Given the description of an element on the screen output the (x, y) to click on. 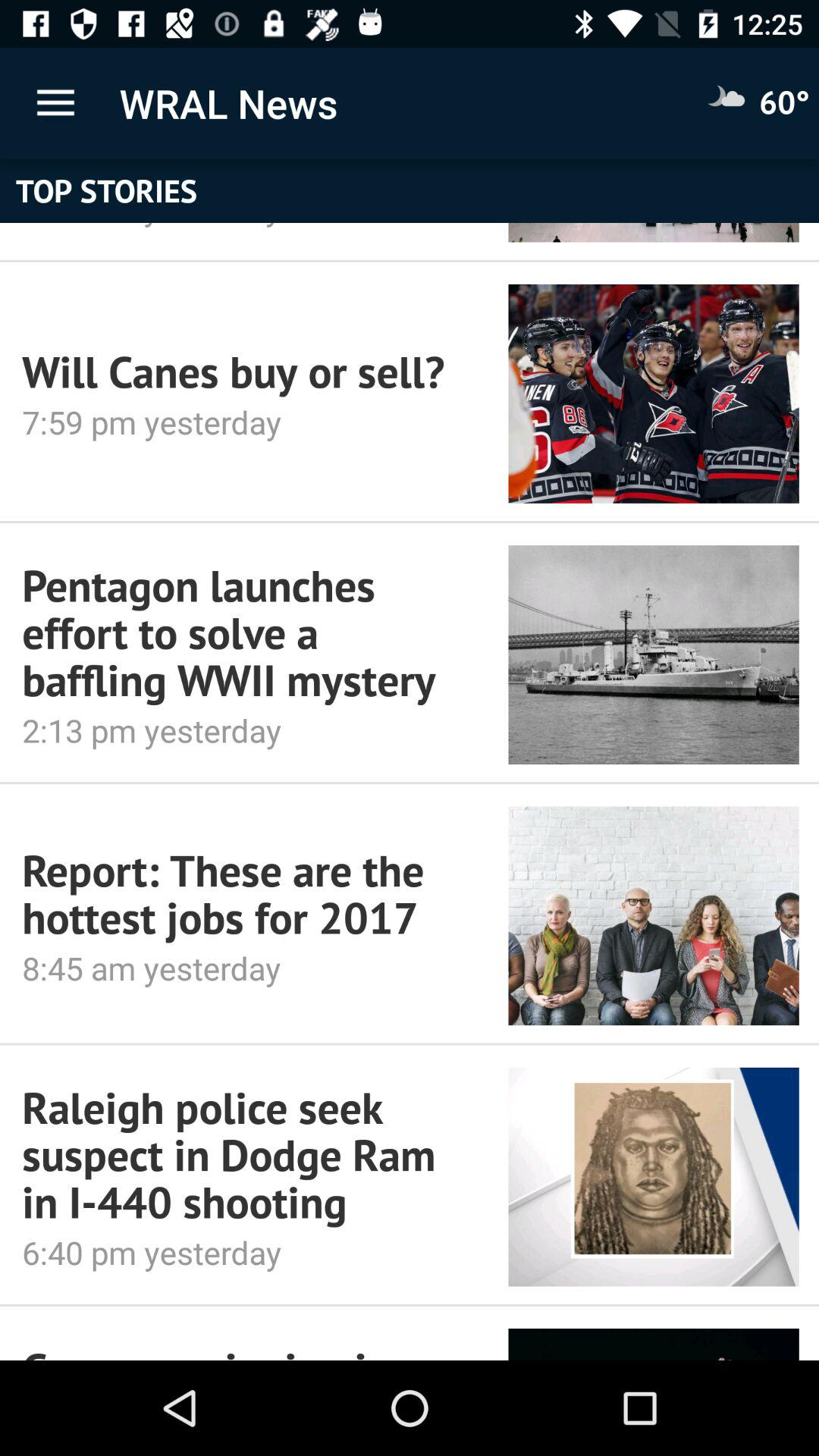
select icon next to the pentagon launches effort icon (653, 654)
